Given the description of an element on the screen output the (x, y) to click on. 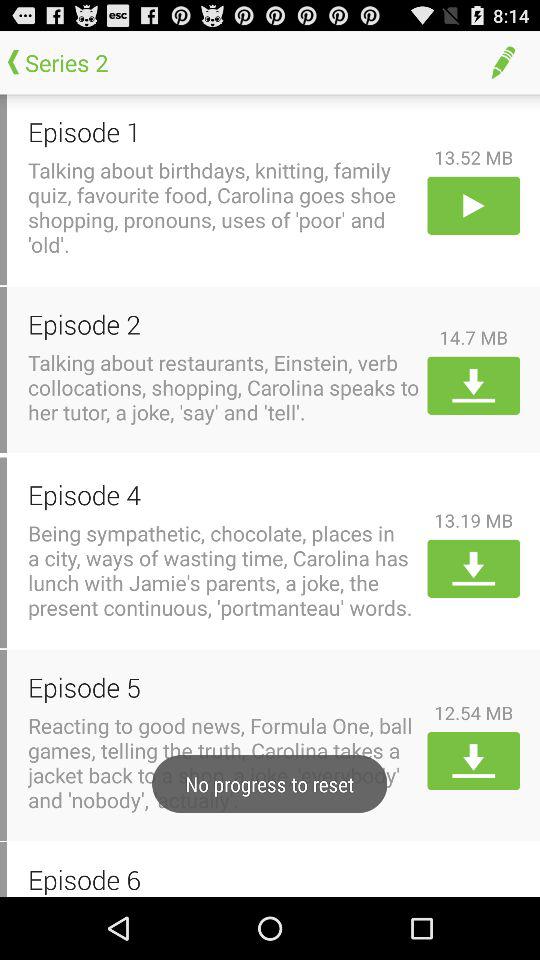
to download (473, 761)
